Given the description of an element on the screen output the (x, y) to click on. 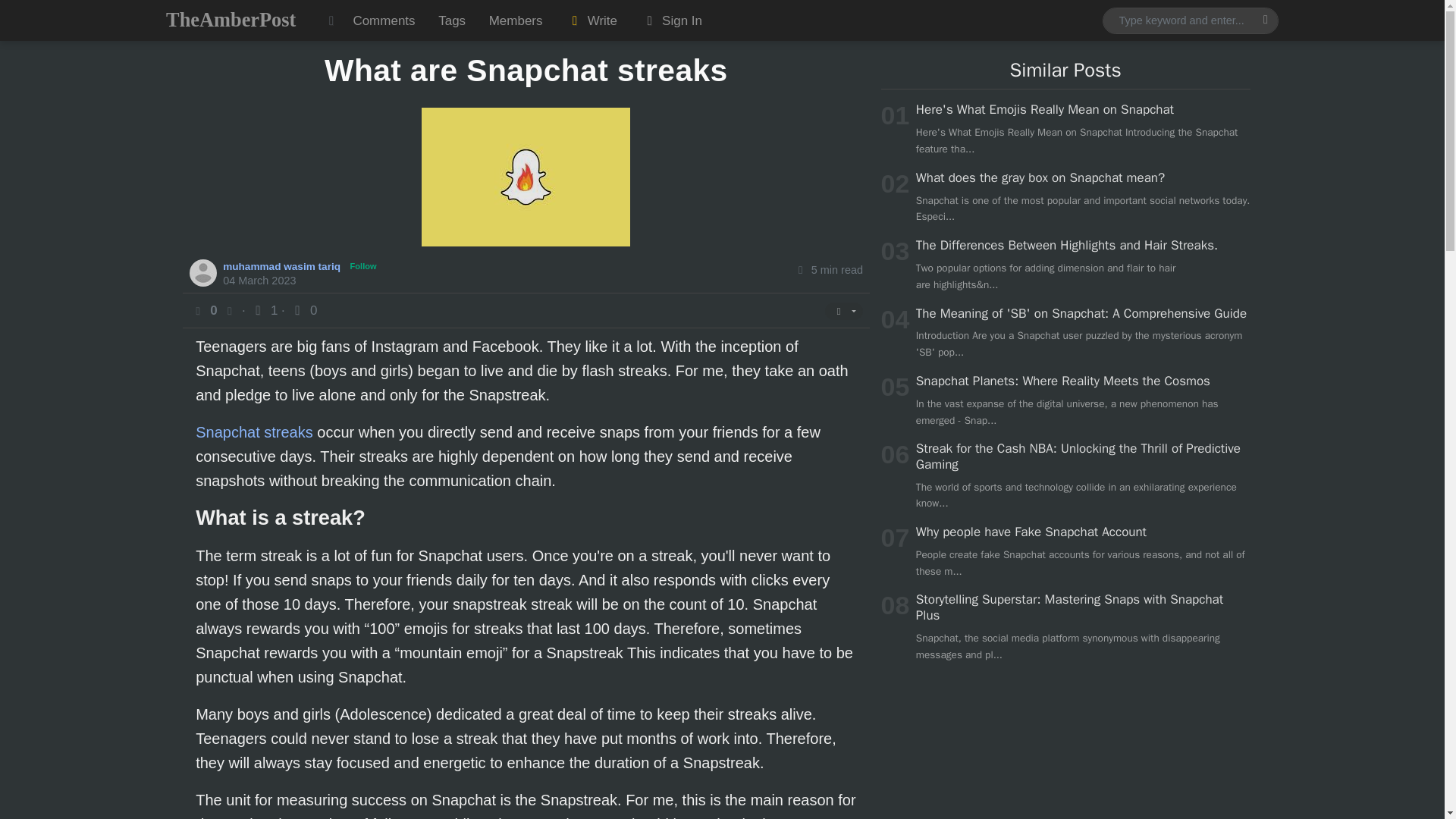
The Meaning of 'SB' on Snapchat: A Comprehensive Guide (1080, 313)
Tags (451, 20)
The Differences Between Highlights and Hair Streaks. (1066, 245)
Snapchat streaks (254, 432)
TheAmberPost (230, 20)
0 (302, 310)
What does the gray box on Snapchat mean? (1039, 177)
Write (591, 20)
Comments (383, 20)
Views (264, 310)
